Given the description of an element on the screen output the (x, y) to click on. 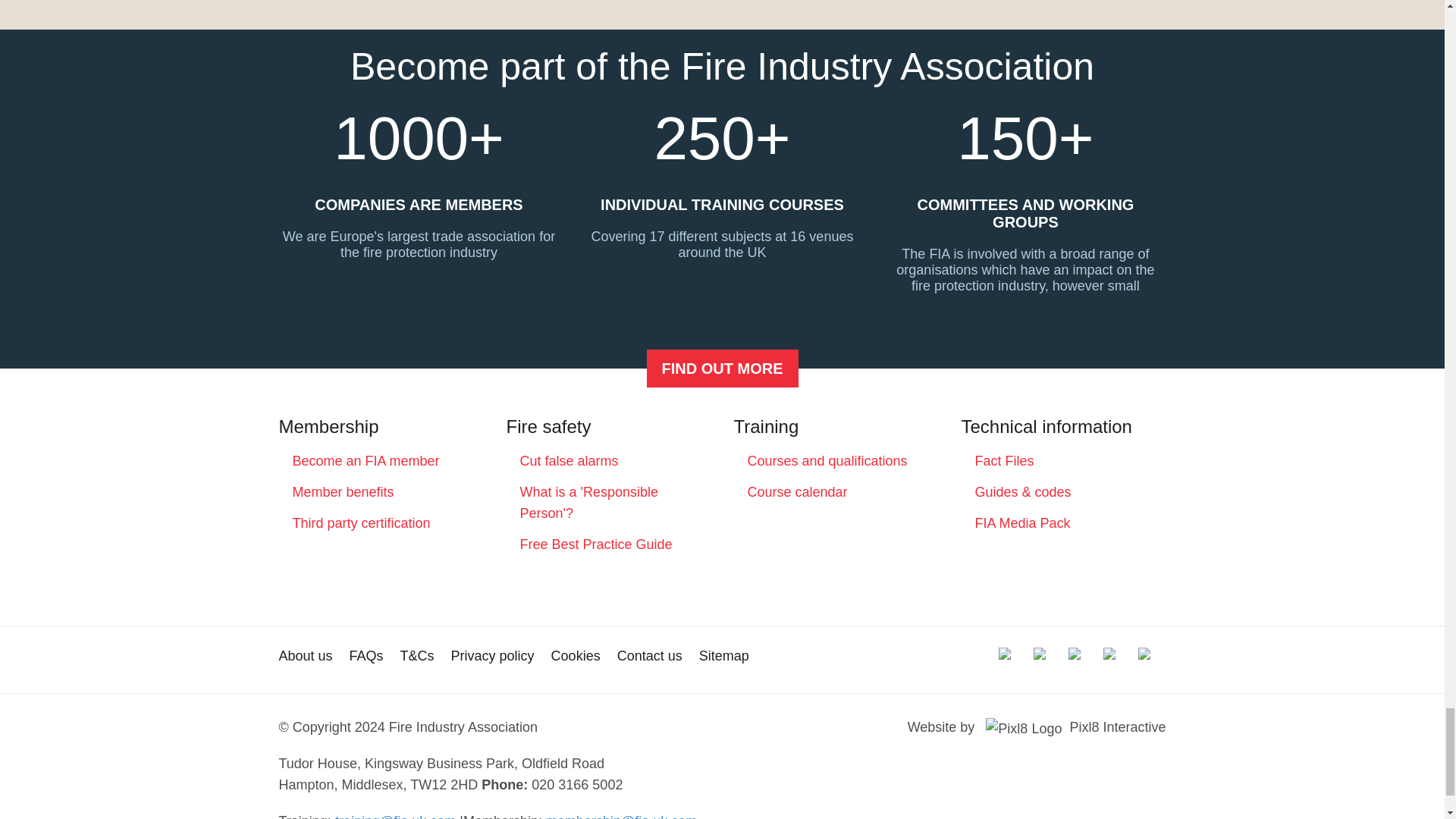
Free Best Practice Guide (595, 544)
Sitemap (723, 655)
What is a 'Responsible Person'? (589, 502)
Become an FIA member (721, 368)
Fact Files (1004, 460)
Member benefits (343, 491)
Course calendar (797, 491)
Become an FIA member (365, 460)
FAQs (366, 655)
Cookies (575, 655)
Cut false alarms (568, 460)
Contact us (649, 655)
Courses and qualifications (827, 460)
About us (306, 655)
Third party certification (361, 522)
